Given the description of an element on the screen output the (x, y) to click on. 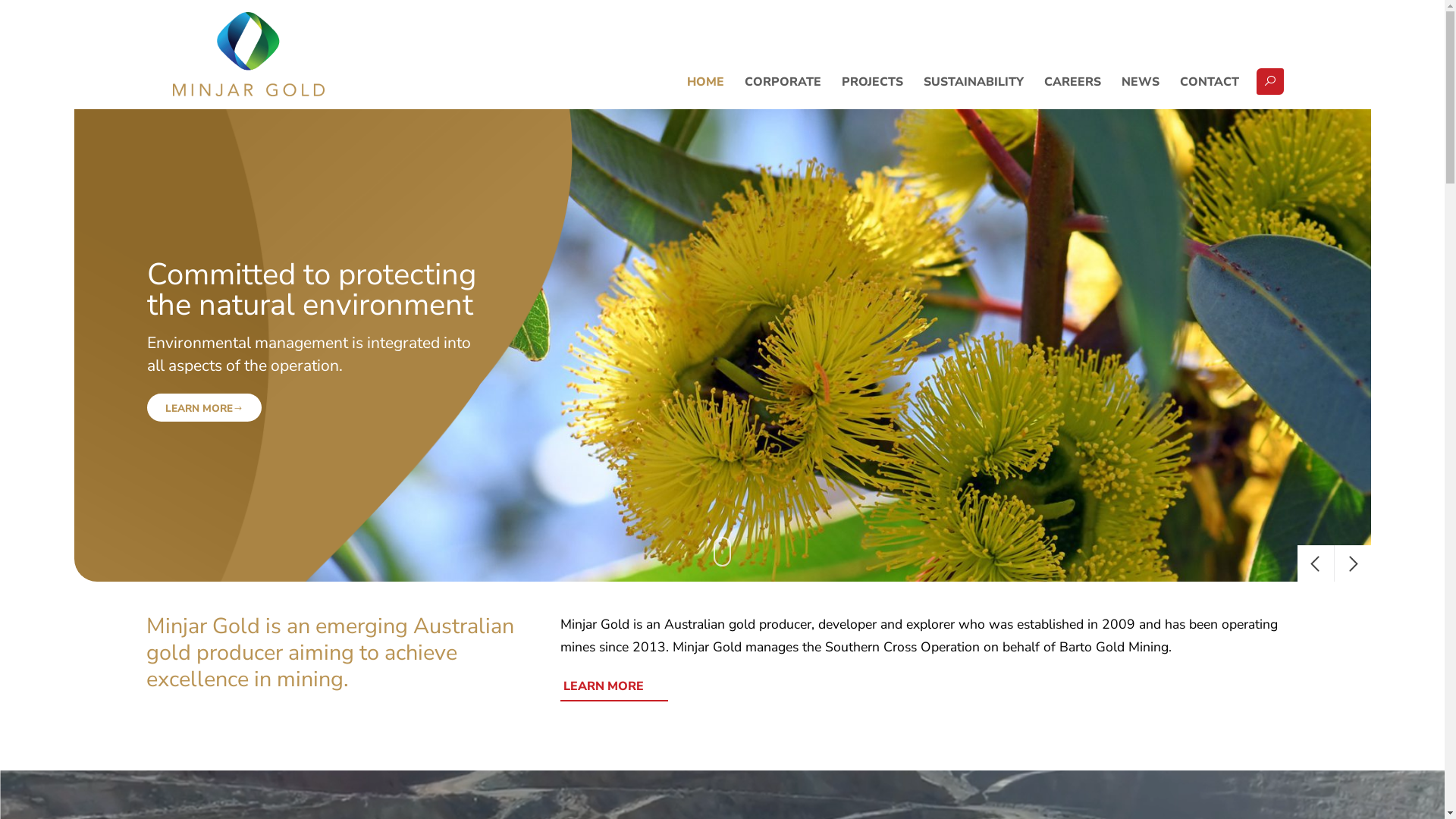
CONTACT Element type: text (1208, 81)
PROJECTS Element type: text (872, 81)
Previous Element type: text (1314, 563)
NEWS Element type: text (1140, 81)
plant-photo Element type: hover (722, 345)
CORPORATE Element type: text (782, 81)
Next Element type: text (1352, 563)
HOME Element type: text (705, 81)
CAREERS Element type: text (1071, 81)
SEARCH Element type: text (1269, 81)
SUSTAINABILITY Element type: text (973, 81)
LEARN MORE Element type: text (614, 686)
LEARN MORE Element type: text (1240, 407)
